Given the description of an element on the screen output the (x, y) to click on. 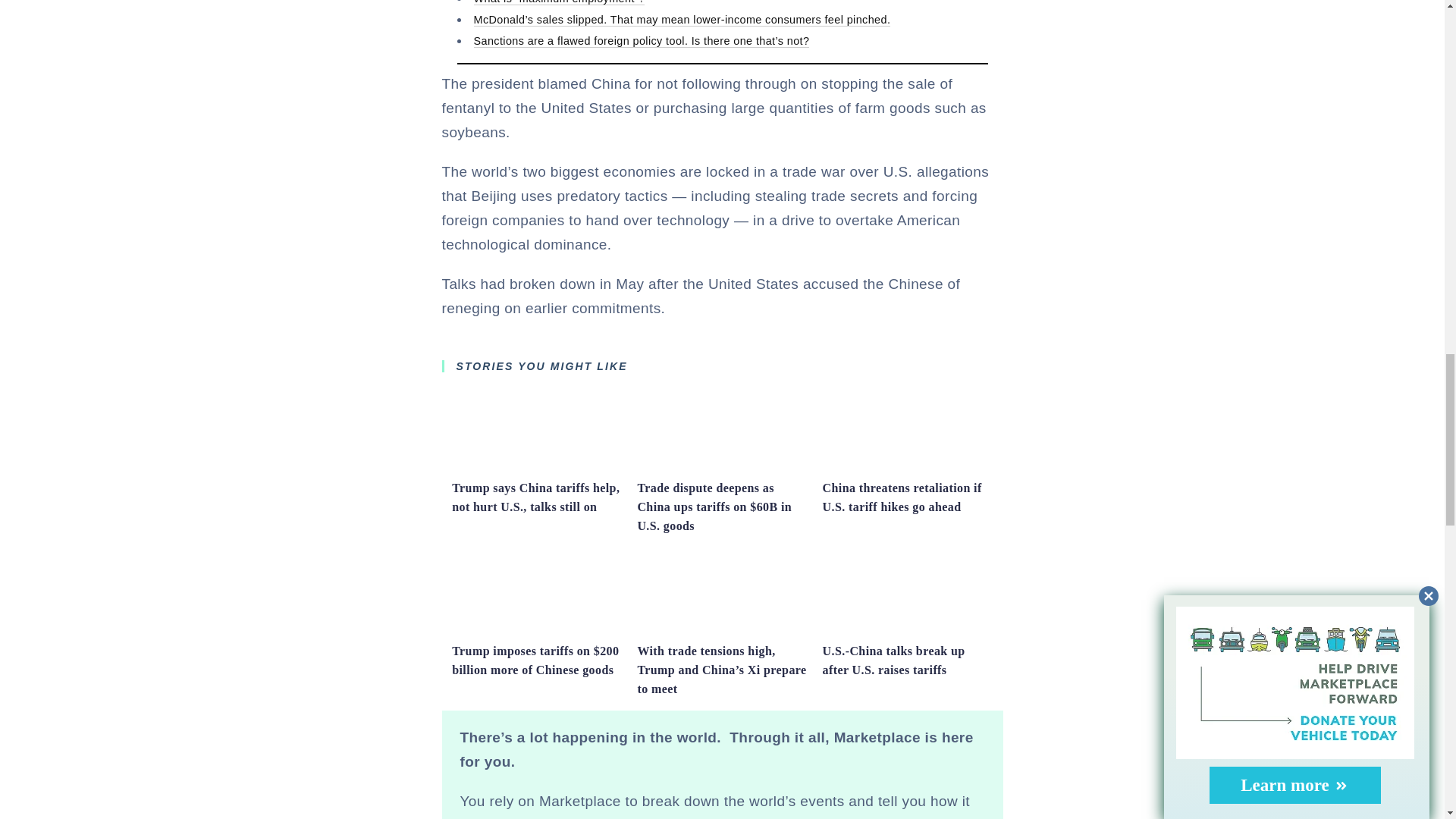
Trump says China tariffs help, not hurt U.S., talks still on (535, 497)
Trump says China tariffs help, not hurt U.S., talks still on (536, 465)
